Given the description of an element on the screen output the (x, y) to click on. 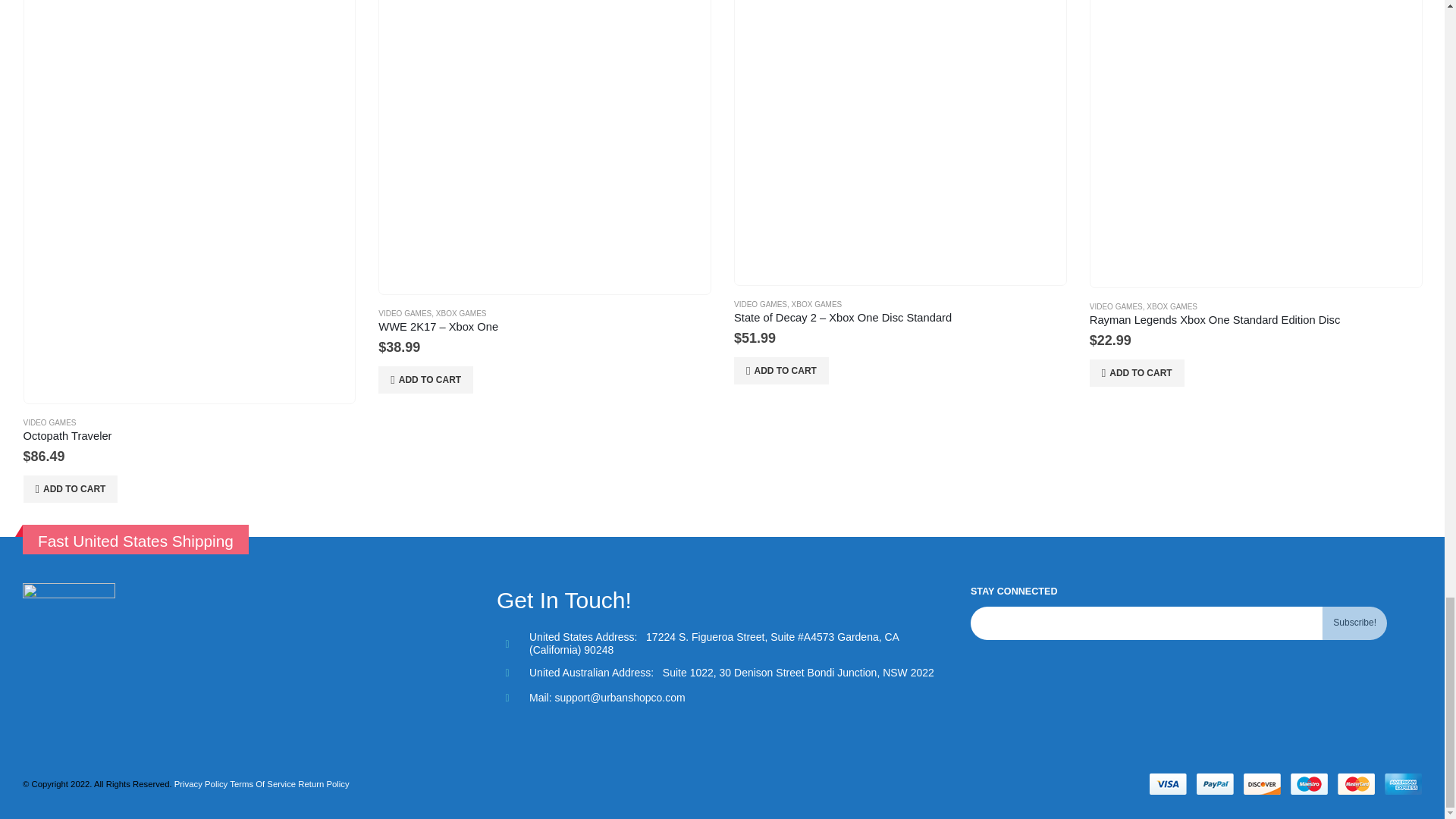
Subscribe! (1354, 622)
